Given the description of an element on the screen output the (x, y) to click on. 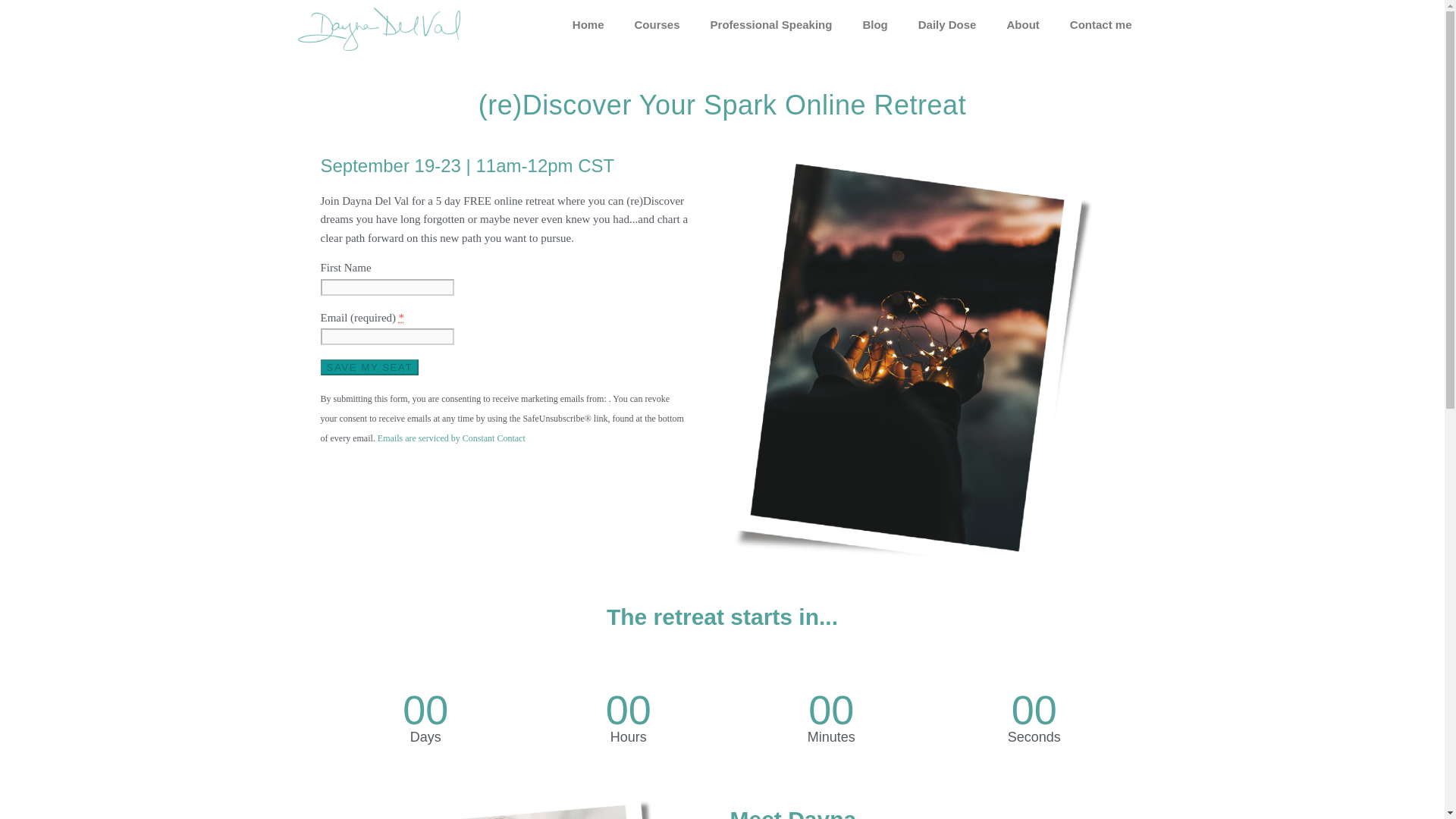
Home (588, 24)
SAVE MY SEAT (369, 367)
Emails are serviced by Constant Contact (451, 438)
Blog (874, 24)
Professional Speaking (771, 24)
SAVE MY SEAT (369, 367)
Contact me (1100, 24)
About (1022, 24)
Courses (657, 24)
Daily Dose (946, 24)
